Given the description of an element on the screen output the (x, y) to click on. 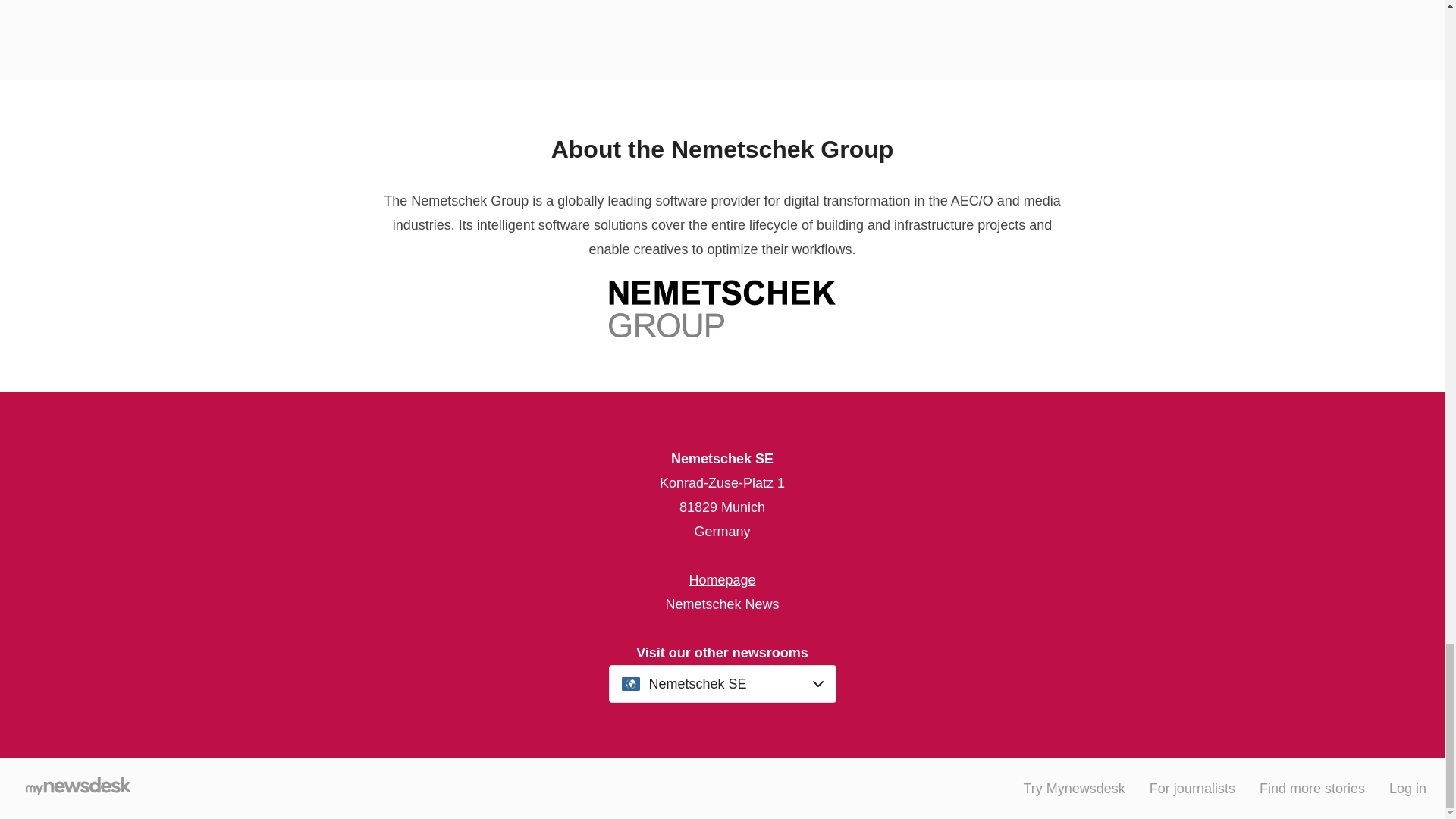
Homepage (721, 580)
Nemetschek News (721, 604)
Nemetschek SE (722, 683)
